Given the description of an element on the screen output the (x, y) to click on. 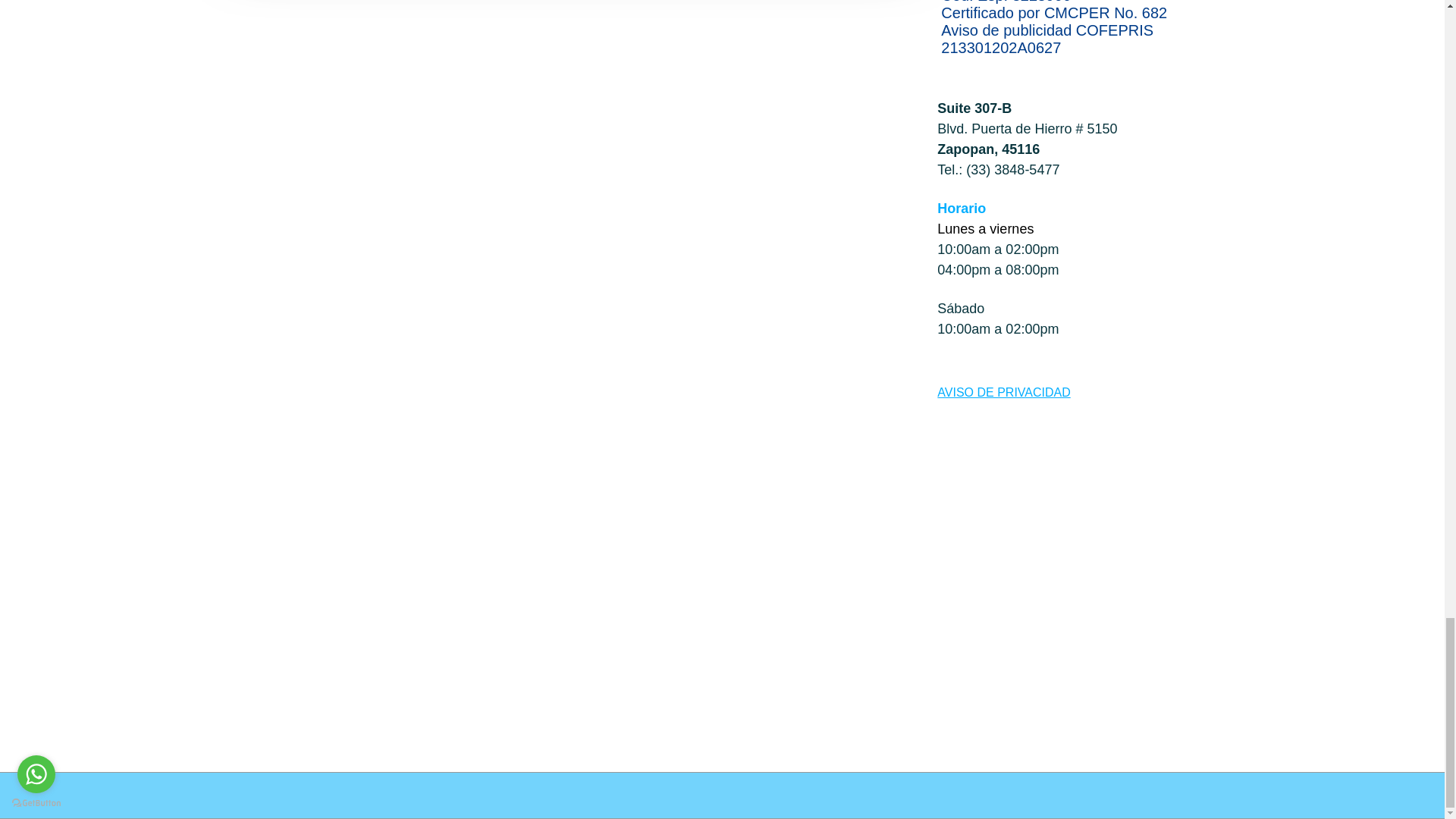
Aviso de privacidad (1003, 391)
